Given the description of an element on the screen output the (x, y) to click on. 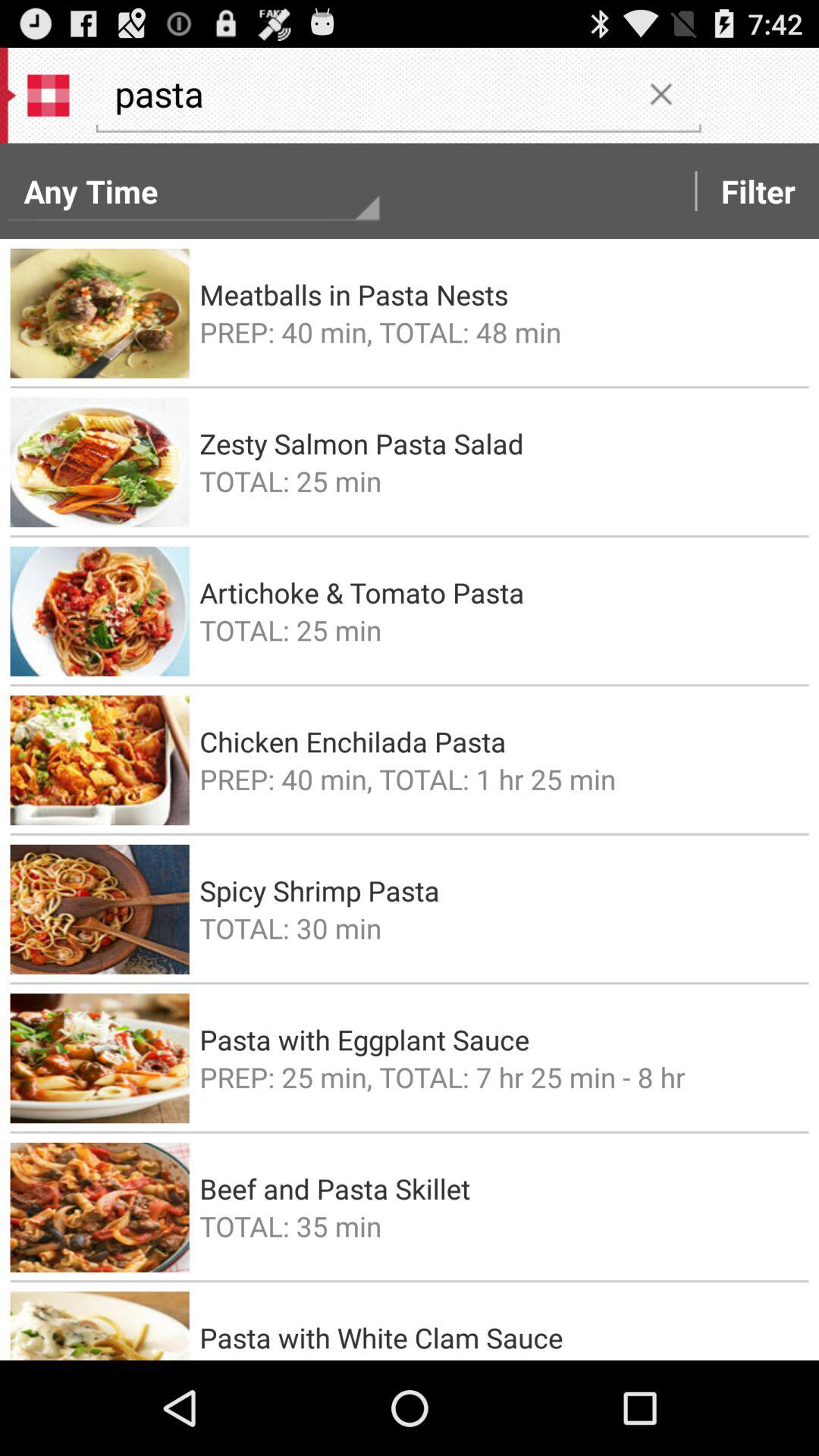
launch the filter (758, 190)
